Given the description of an element on the screen output the (x, y) to click on. 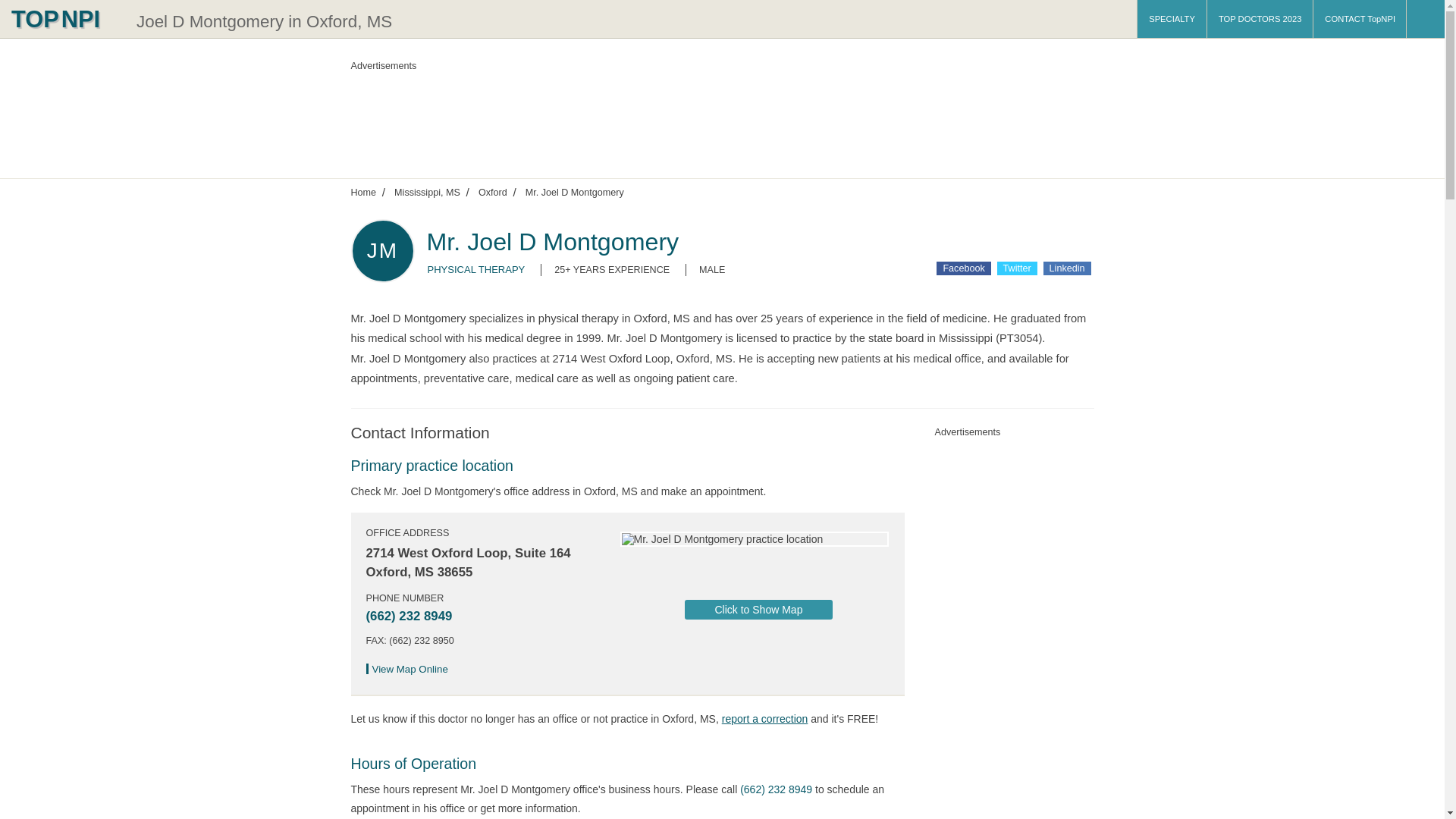
Linkedin (1066, 268)
Mr. Joel online map (411, 668)
Share Mr. Joel D Montgomery on Linkedin (1066, 268)
Update practice location (765, 718)
Click to Show Map (758, 609)
View Map Online (411, 668)
Find doctors by specialty (1172, 18)
CONTACT TopNPI (1359, 18)
Physical Therapy (476, 269)
Mississippi, MS (427, 191)
Click to show map (758, 609)
PHYSICAL THERAPY (476, 269)
TOPNPI (64, 18)
TOP DOCTORS 2023 (1260, 18)
NPI lookup (64, 18)
